Given the description of an element on the screen output the (x, y) to click on. 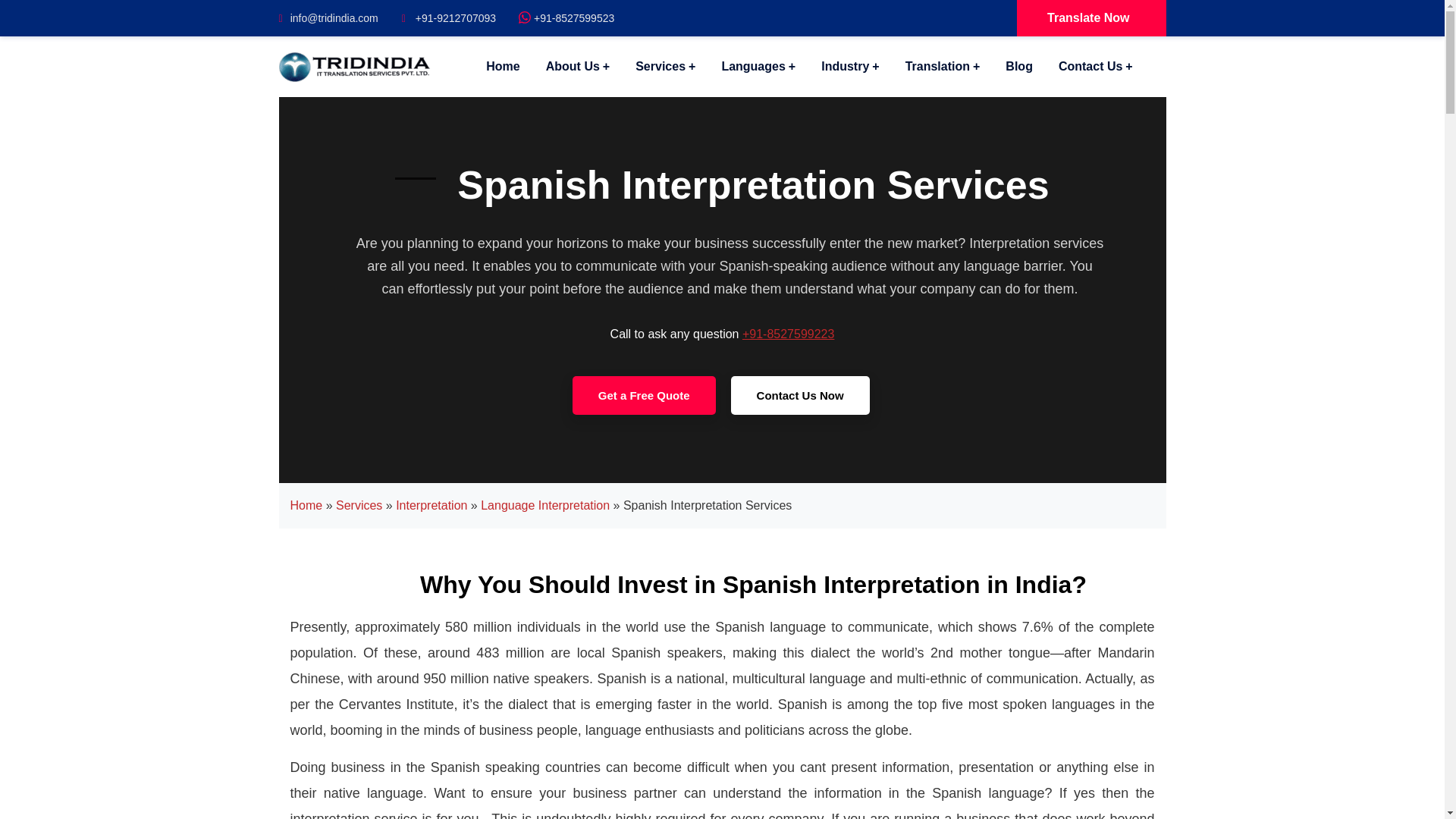
Translate Now (1091, 18)
About Us (578, 66)
Services (664, 66)
Tridindia (354, 65)
